Given the description of an element on the screen output the (x, y) to click on. 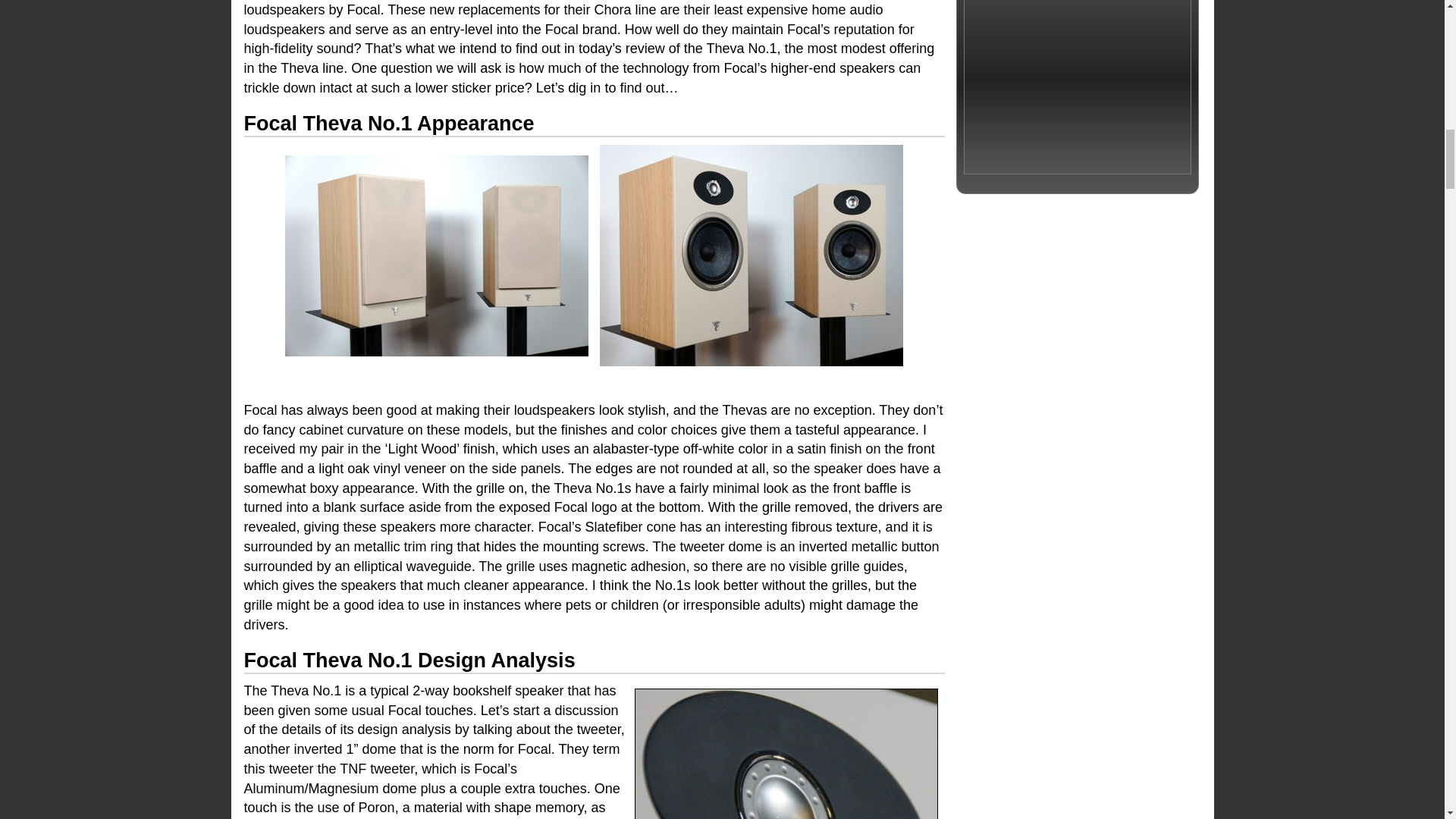
Theva pair4 (436, 254)
Theva pair17 (750, 254)
